Given the description of an element on the screen output the (x, y) to click on. 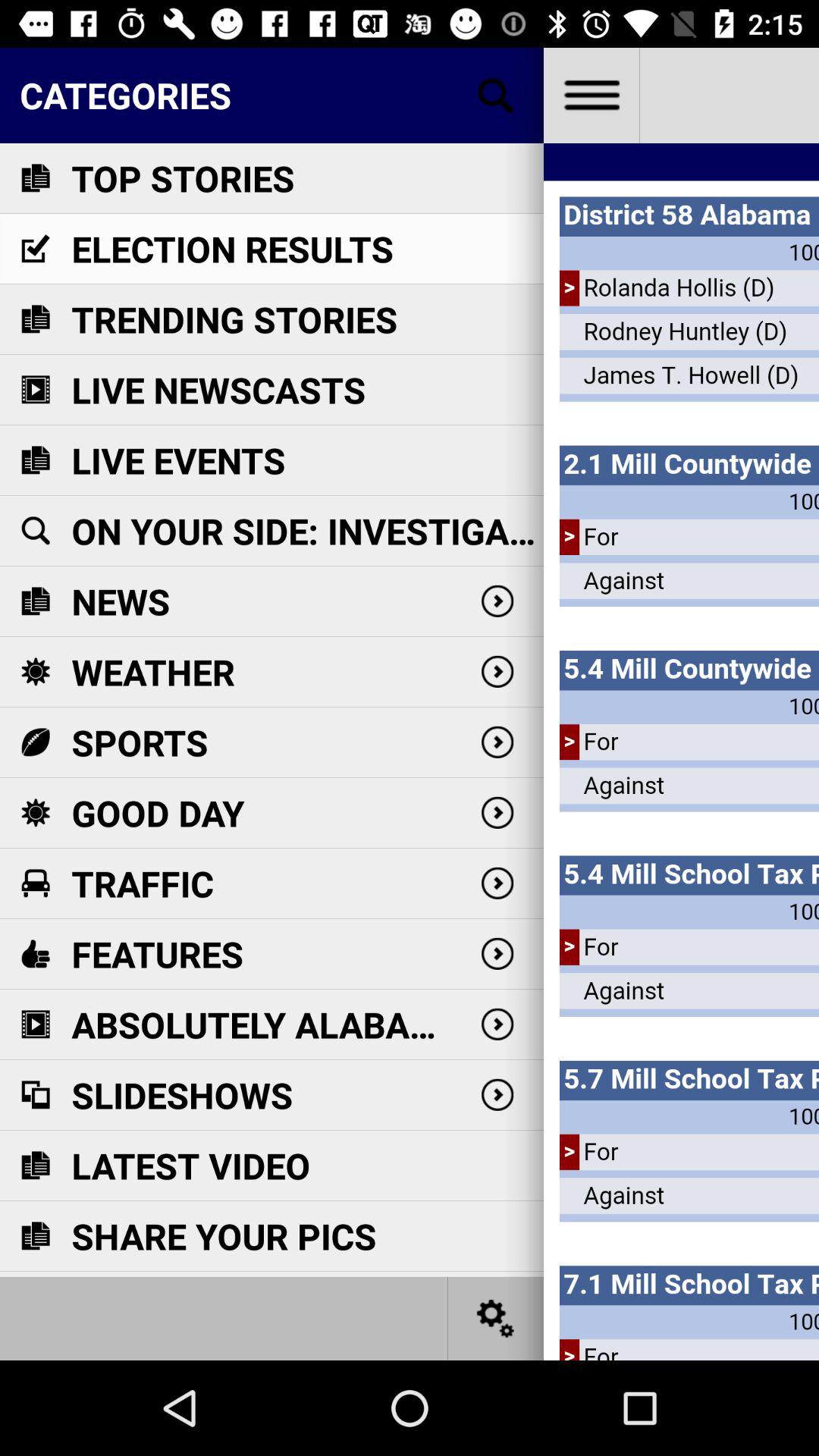
search button (495, 95)
